Given the description of an element on the screen output the (x, y) to click on. 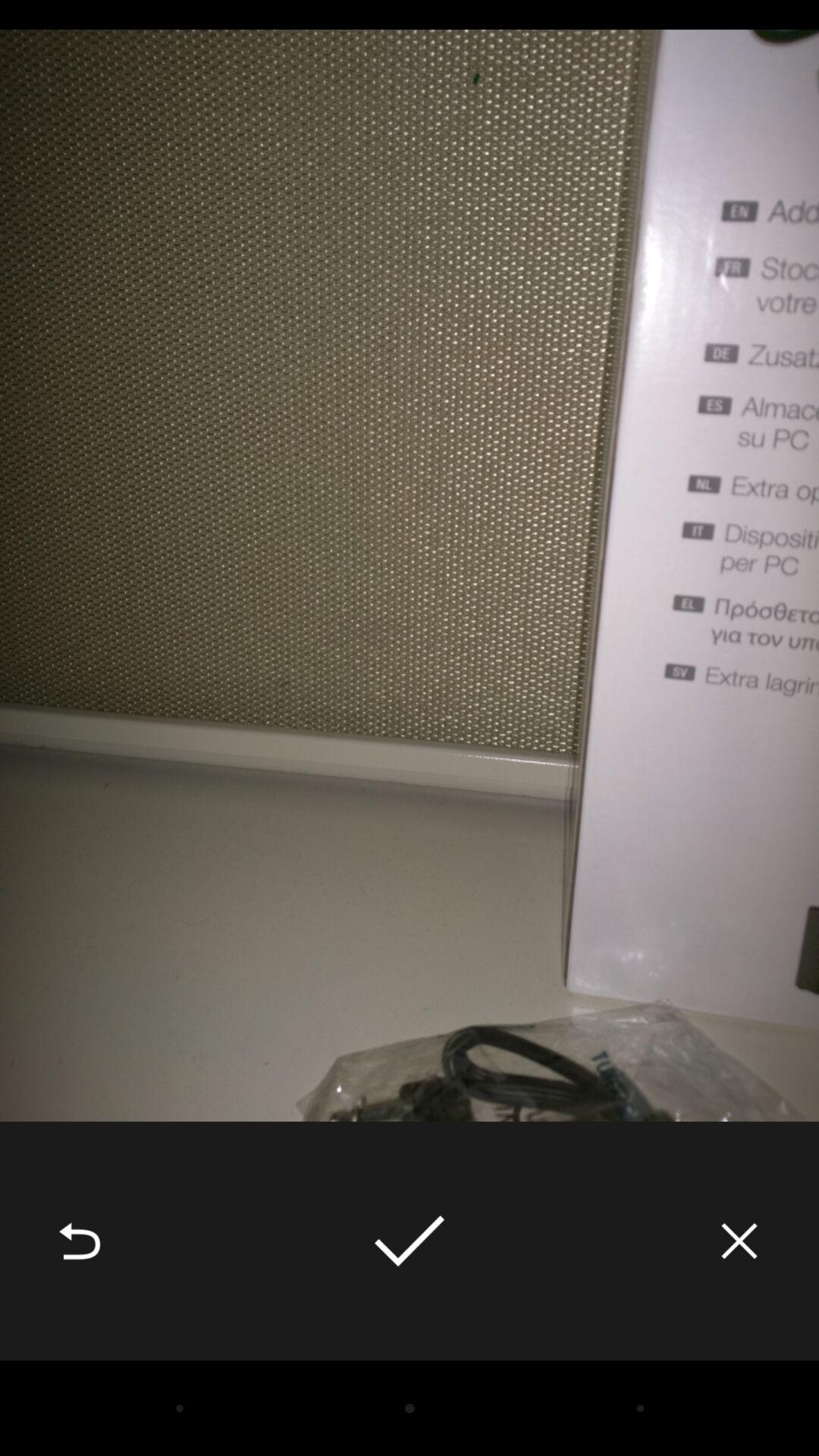
click icon at the bottom right corner (739, 1240)
